Given the description of an element on the screen output the (x, y) to click on. 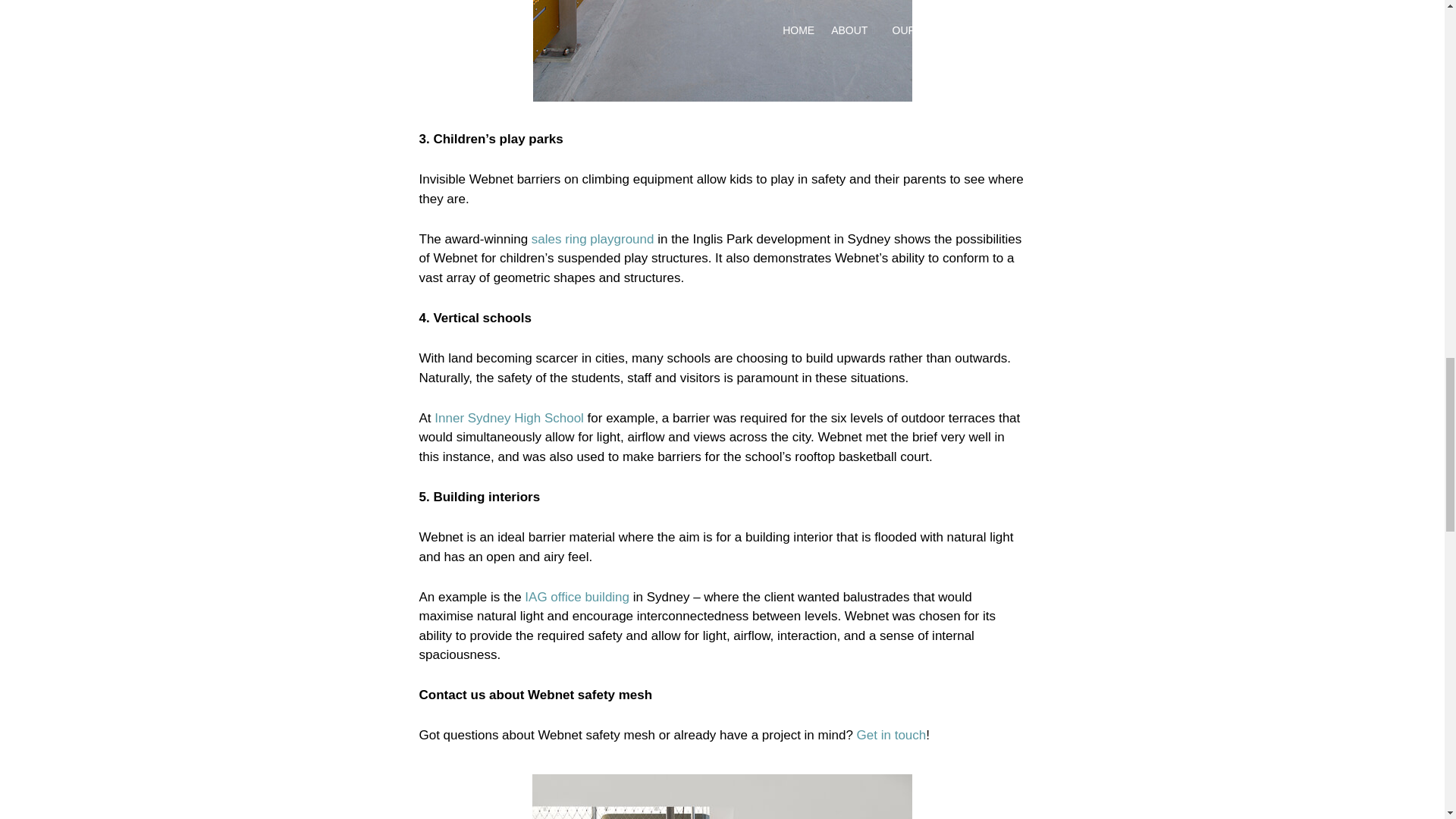
Inner Sydney High School (508, 418)
IAG office building (576, 596)
Get in touch (891, 735)
sales ring playground (592, 238)
